Given the description of an element on the screen output the (x, y) to click on. 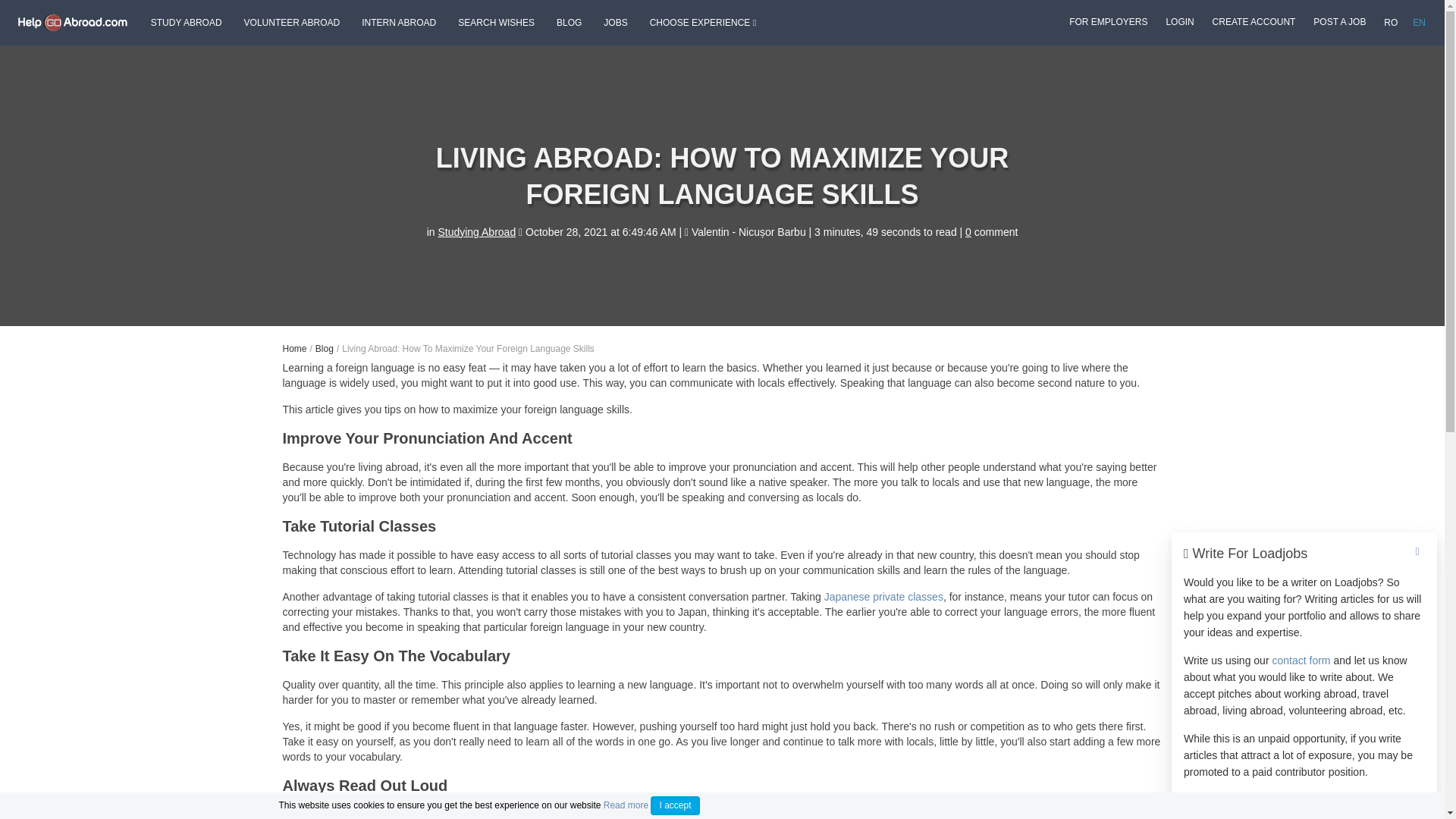
LOGIN (1179, 21)
POST A JOB (1339, 21)
SEARCH WISHES (496, 22)
RO (1390, 22)
BLOG (568, 22)
CHOOSE EXPERIENCE (703, 22)
INTERN ABROAD (398, 22)
EN (1418, 22)
FOR EMPLOYERS (1107, 21)
VOLUNTEER ABROAD (292, 22)
CREATE ACCOUNT (1254, 21)
STUDY ABROAD (185, 22)
JOBS (615, 22)
